Given the description of an element on the screen output the (x, y) to click on. 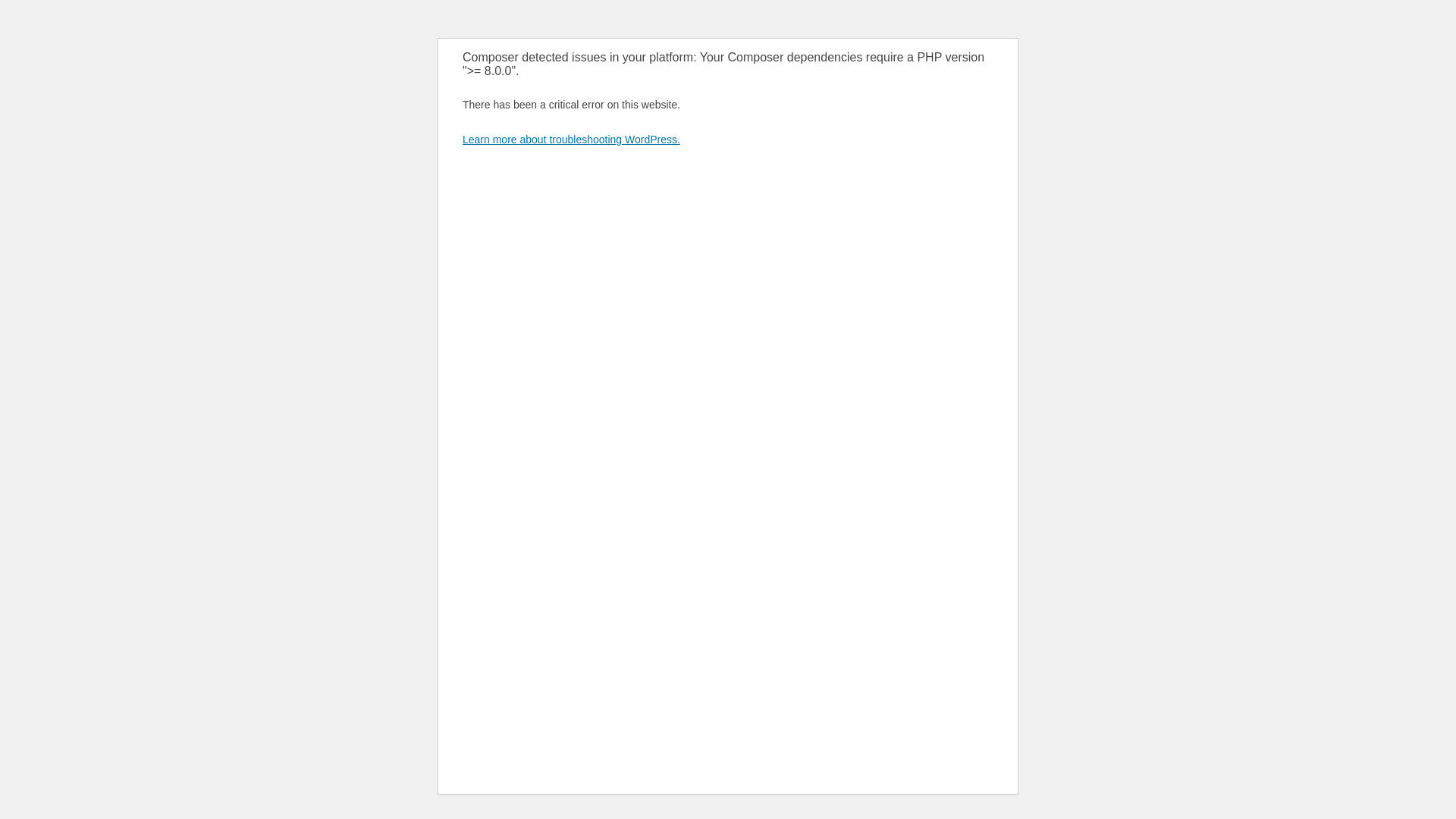
Learn more about troubleshooting WordPress. (571, 139)
